Given the description of an element on the screen output the (x, y) to click on. 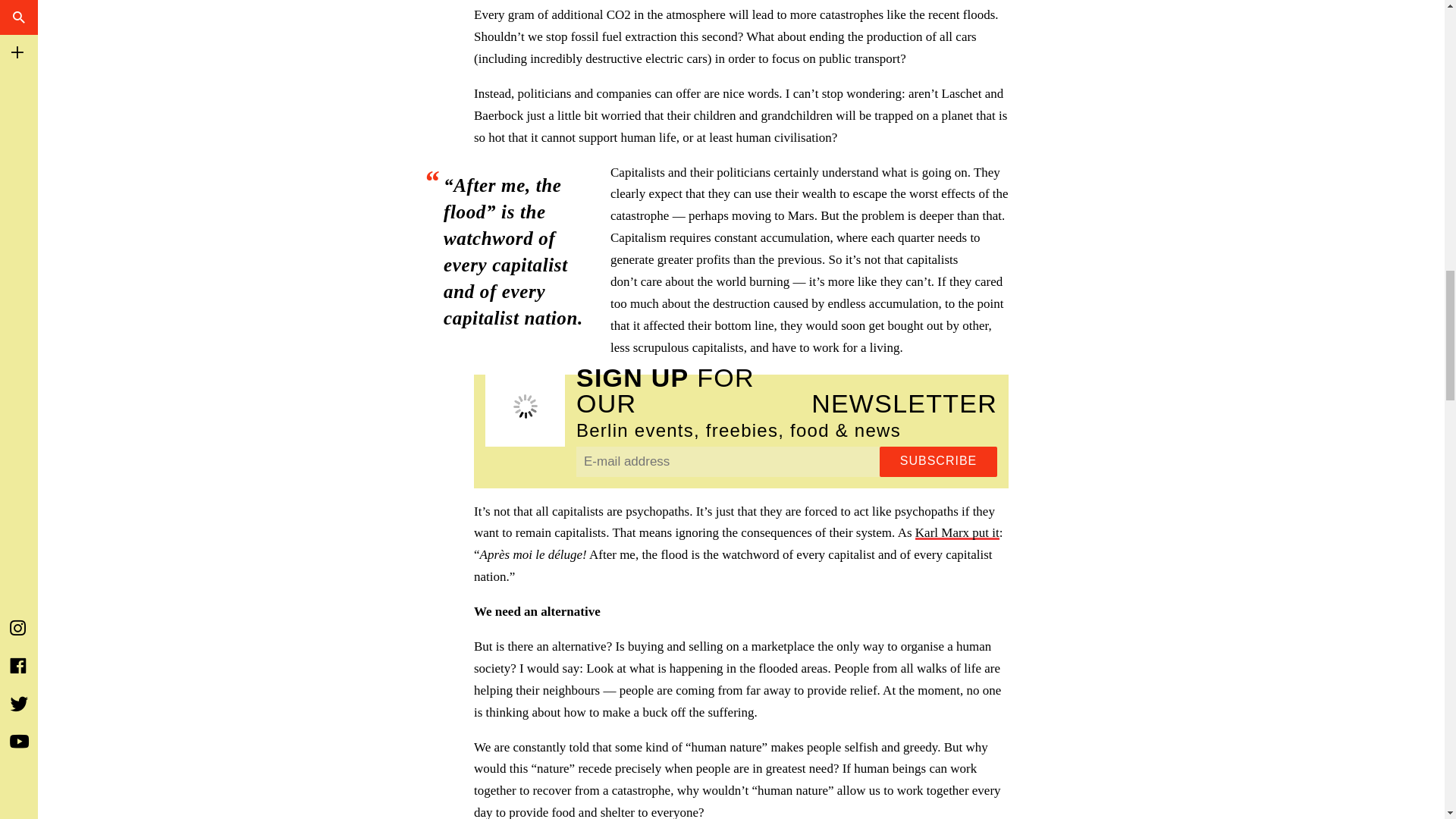
Subscribe (938, 461)
Karl Marx put it (956, 532)
Subscribe (938, 461)
